Given the description of an element on the screen output the (x, y) to click on. 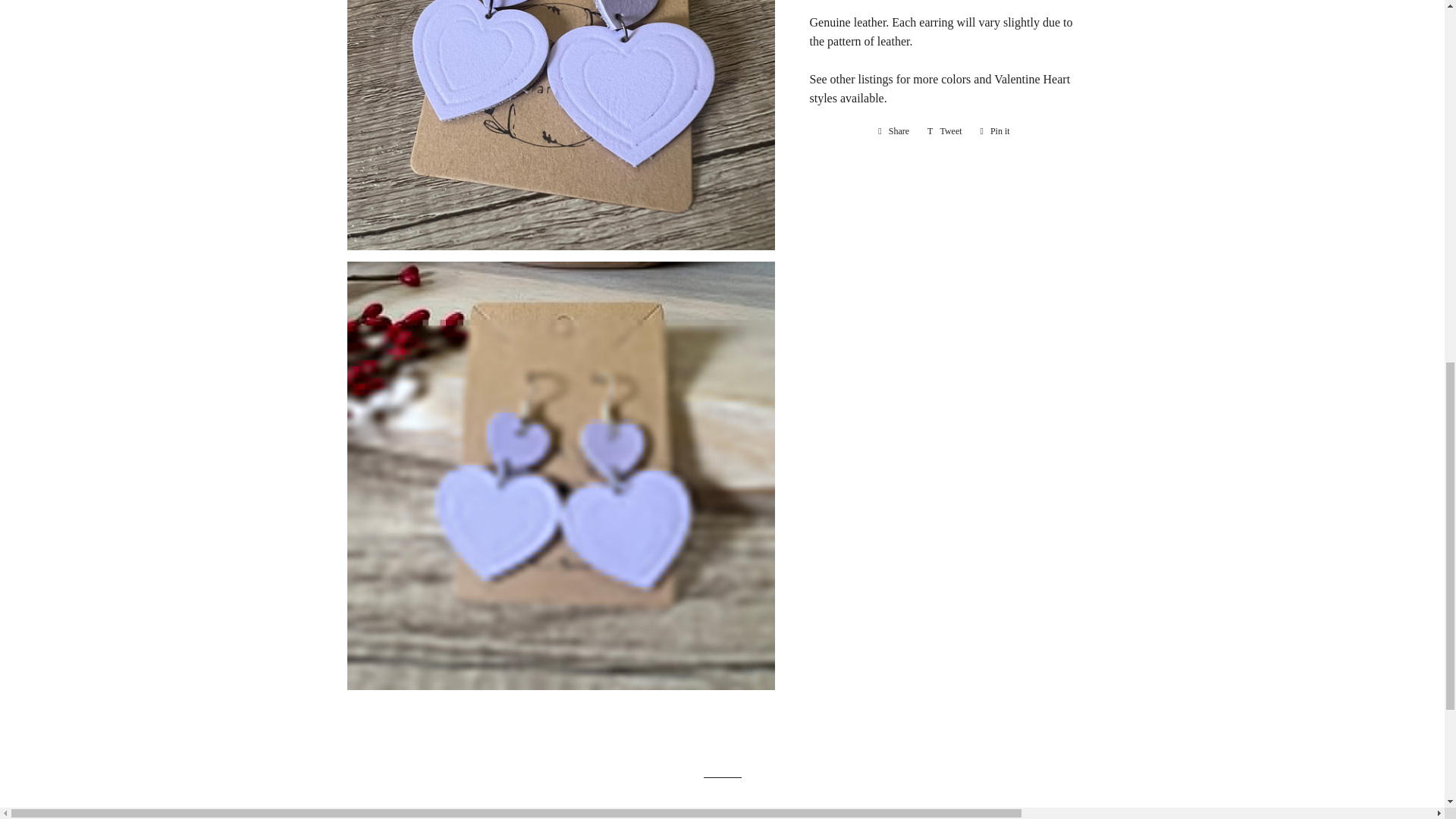
Share on Facebook (893, 130)
Pin on Pinterest (994, 130)
Tweet on Twitter (944, 130)
